Given the description of an element on the screen output the (x, y) to click on. 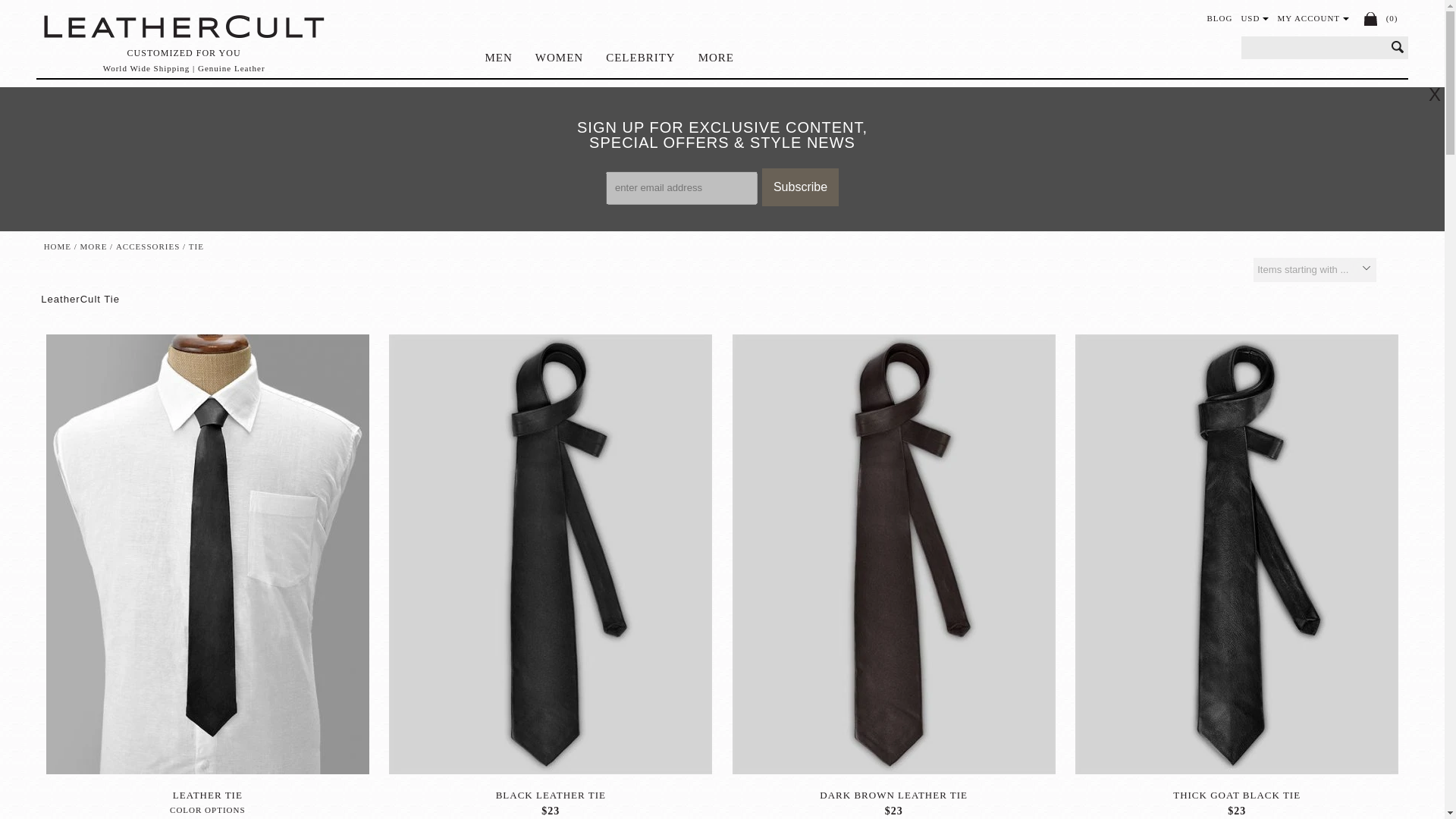
LeatherCult (183, 26)
Subscribe (799, 187)
Blog (1219, 17)
Shopping Cart (1370, 18)
